Given the description of an element on the screen output the (x, y) to click on. 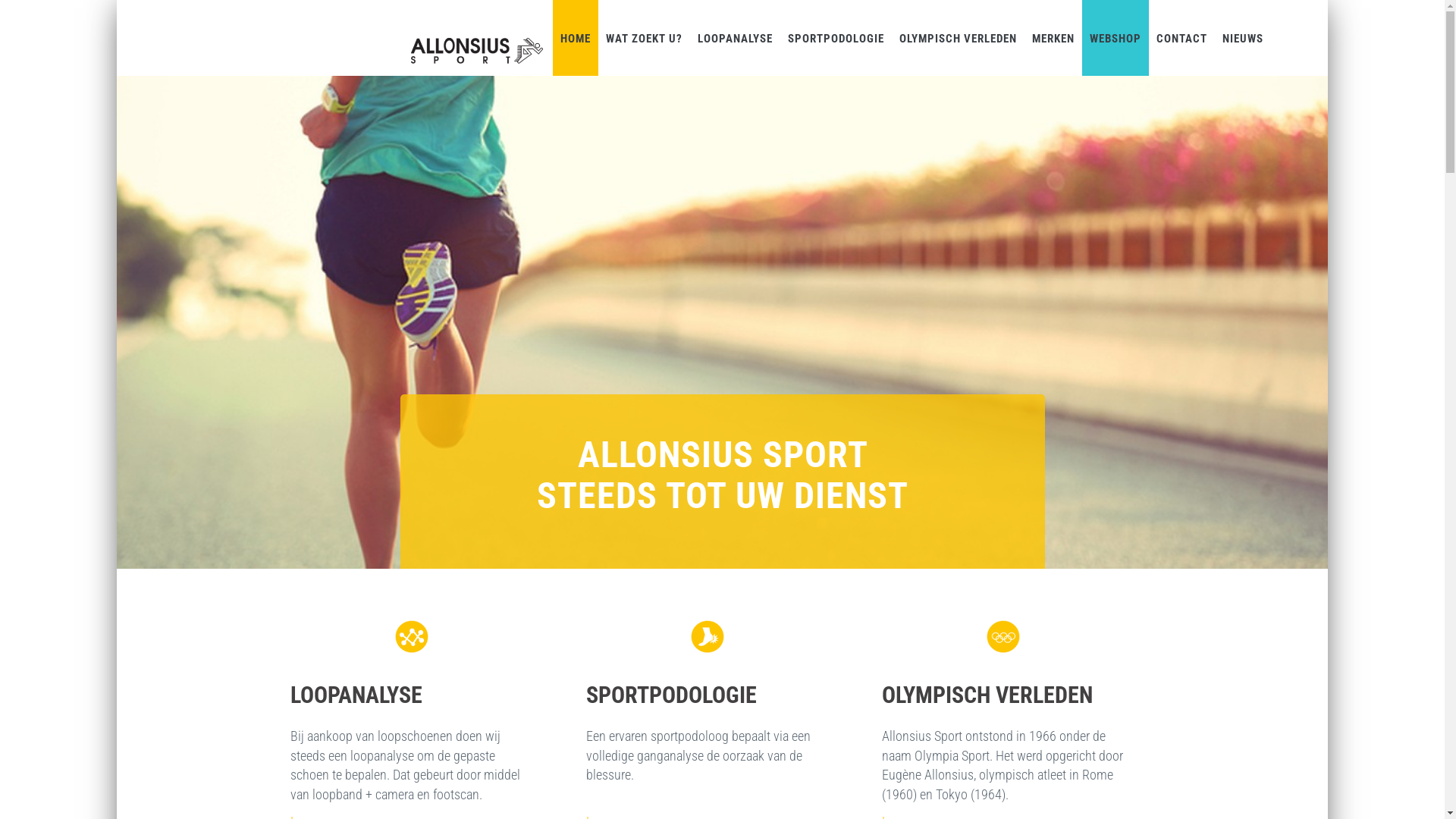
HOME Element type: text (575, 37)
LOOPANALYSE Element type: text (735, 37)
NIEUWS Element type: text (1242, 37)
WEBSHOP Element type: text (1115, 37)
CONTACT Element type: text (1181, 37)
SPORTPODOLOGIE Element type: text (835, 37)
MERKEN Element type: text (1053, 37)
WAT ZOEKT U? Element type: text (644, 37)
OLYMPISCH VERLEDEN Element type: text (957, 37)
